Given the description of an element on the screen output the (x, y) to click on. 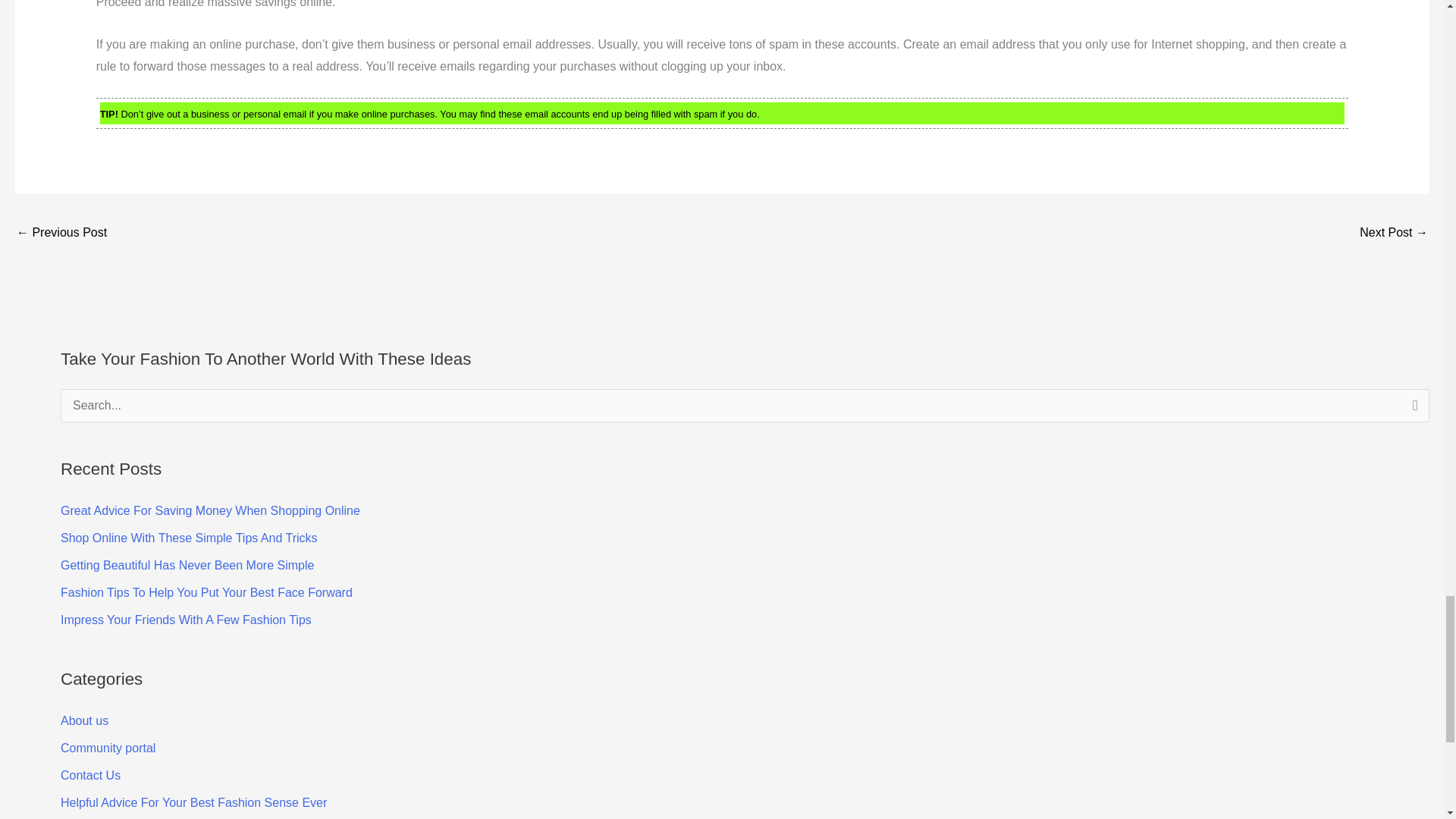
Getting Beautiful Has Never Been More Simple (187, 564)
Shop Online With These Simple Tips And Tricks (189, 537)
Community portal (108, 748)
Great Advice For Saving Money When Shopping Online (210, 510)
About us (84, 720)
Helpful Advice For Your Best Fashion Sense Ever (193, 802)
Enjoy Shopping Online With These Tips And Pointers (1393, 234)
Shoe Buying? Before You Go, Read These Tips (61, 234)
Contact Us (90, 775)
Impress Your Friends With A Few Fashion Tips (186, 619)
Fashion Tips To Help You Put Your Best Face Forward (206, 592)
